Given the description of an element on the screen output the (x, y) to click on. 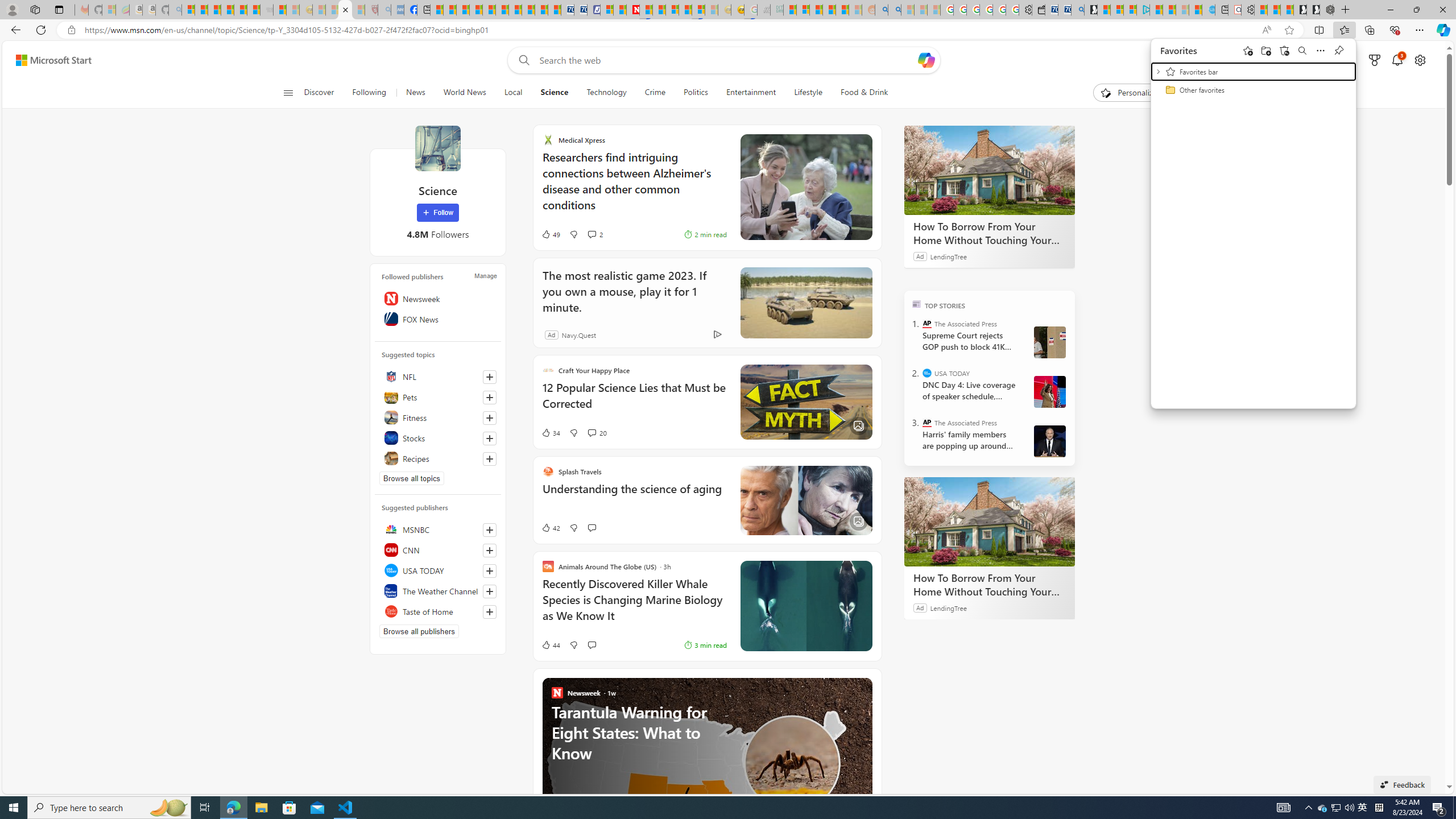
Add this page to favorites (1247, 49)
